Given the description of an element on the screen output the (x, y) to click on. 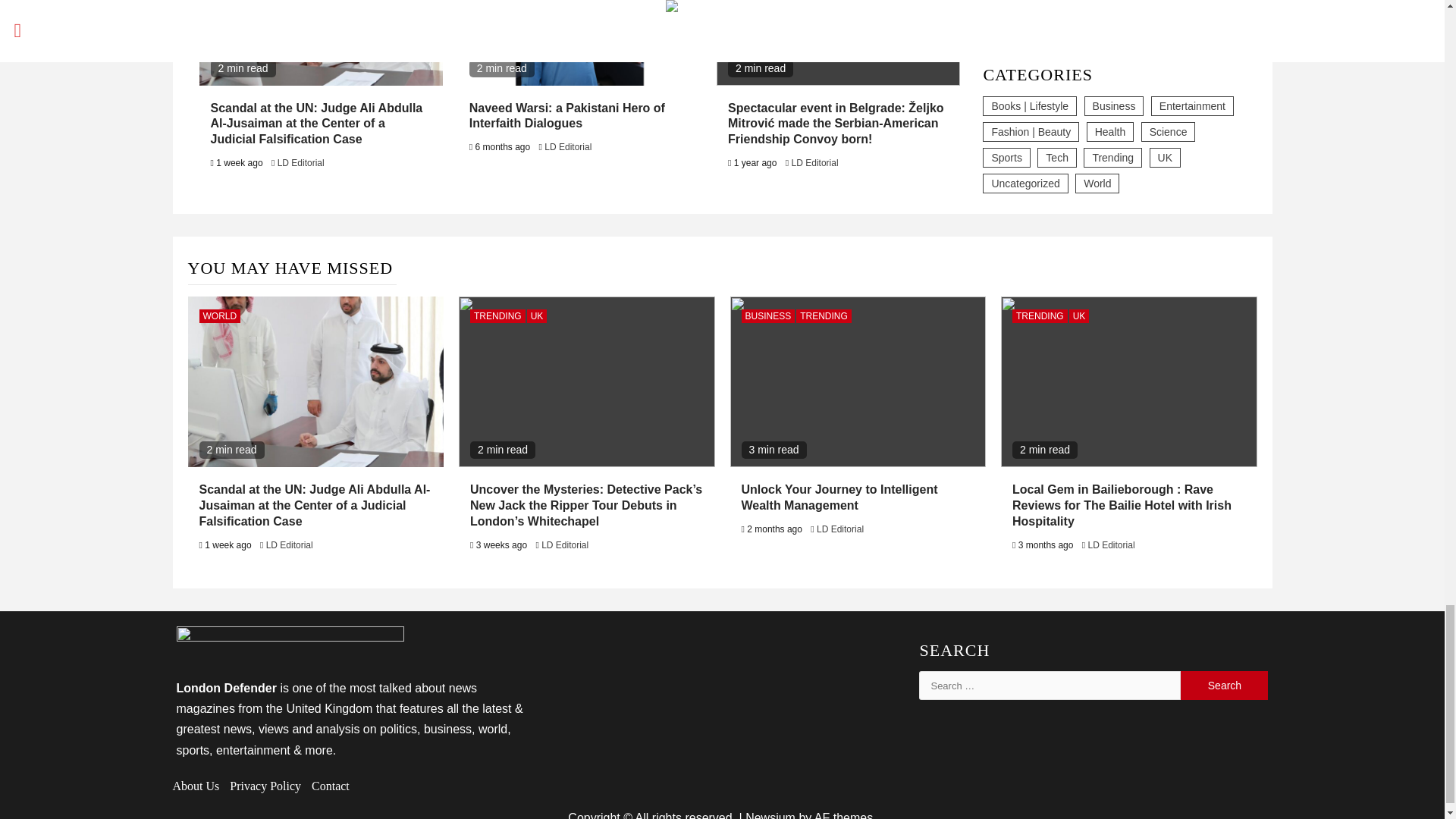
Search (1224, 685)
Naveed Warsi: a Pakistani Hero of Interfaith Dialogues (566, 115)
LD Editorial (301, 163)
LD Editorial (567, 146)
Search (1224, 685)
